Given the description of an element on the screen output the (x, y) to click on. 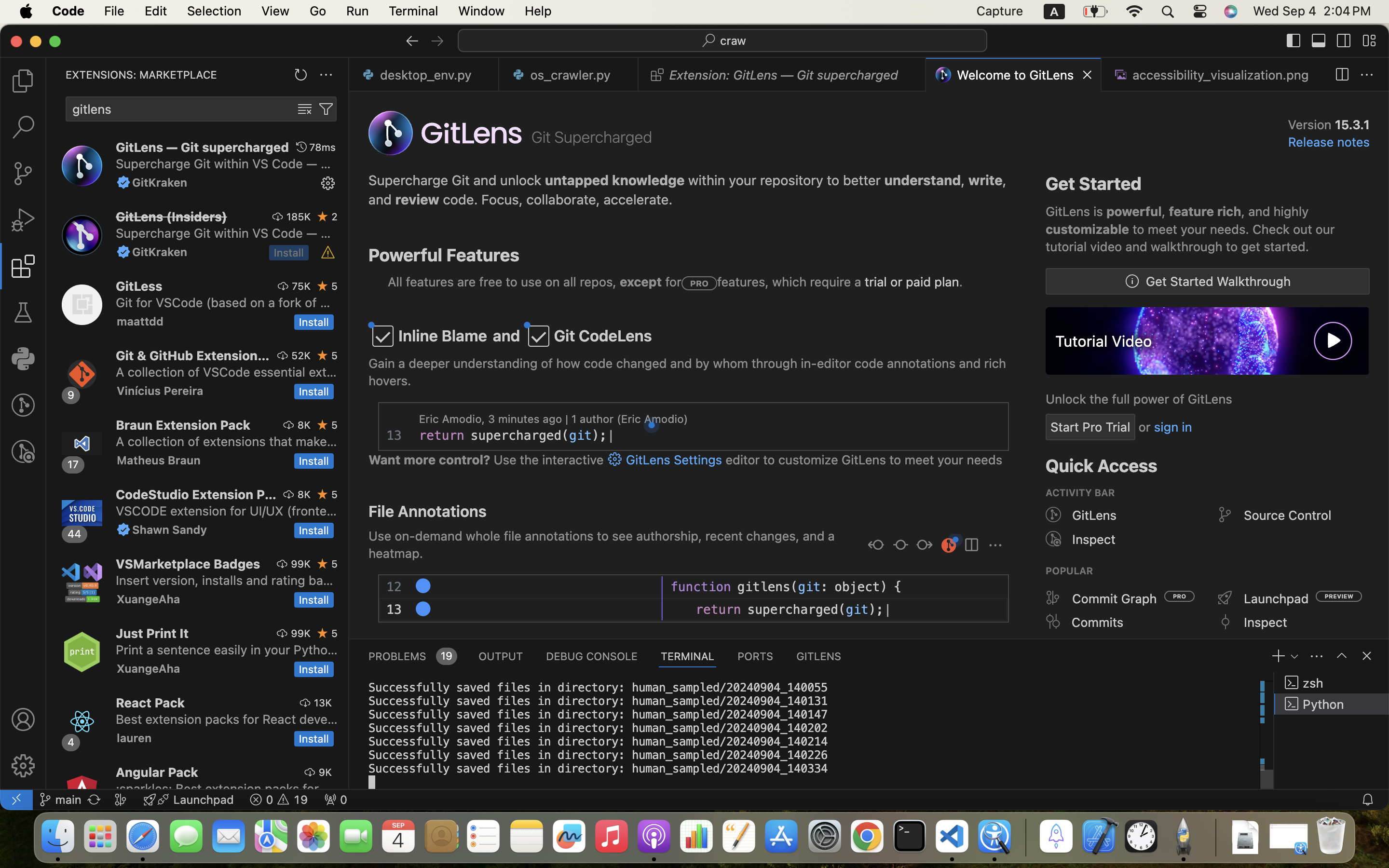
GitLens (Insiders) Element type: AXStaticText (171, 216)
maattdd Element type: AXStaticText (139, 320)
All features are free to use on all repos, Element type: AXStaticText (503, 281)
features, which require a Element type: AXStaticText (791, 281)
GitLens is Element type: AXStaticText (1076, 211)
